Given the description of an element on the screen output the (x, y) to click on. 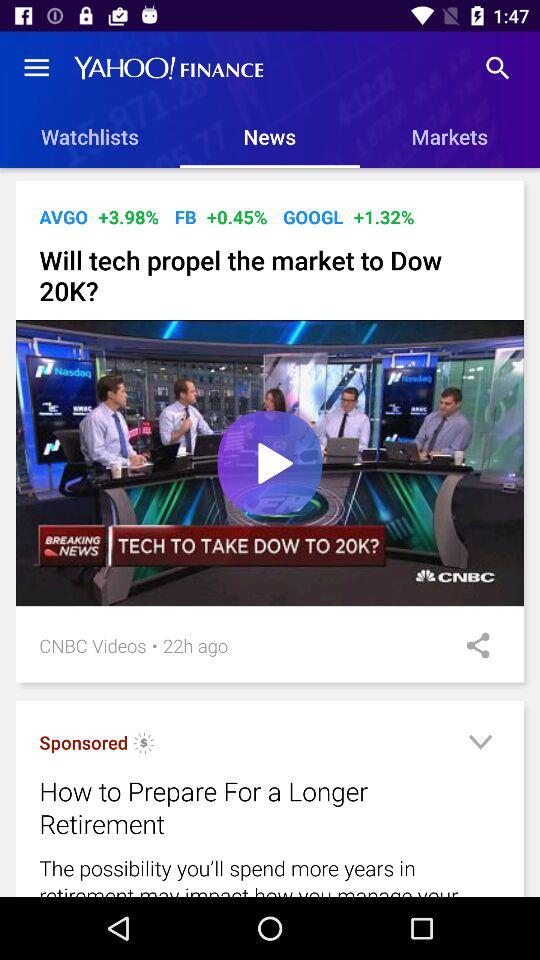
click the icon next to fb (236, 216)
